Given the description of an element on the screen output the (x, y) to click on. 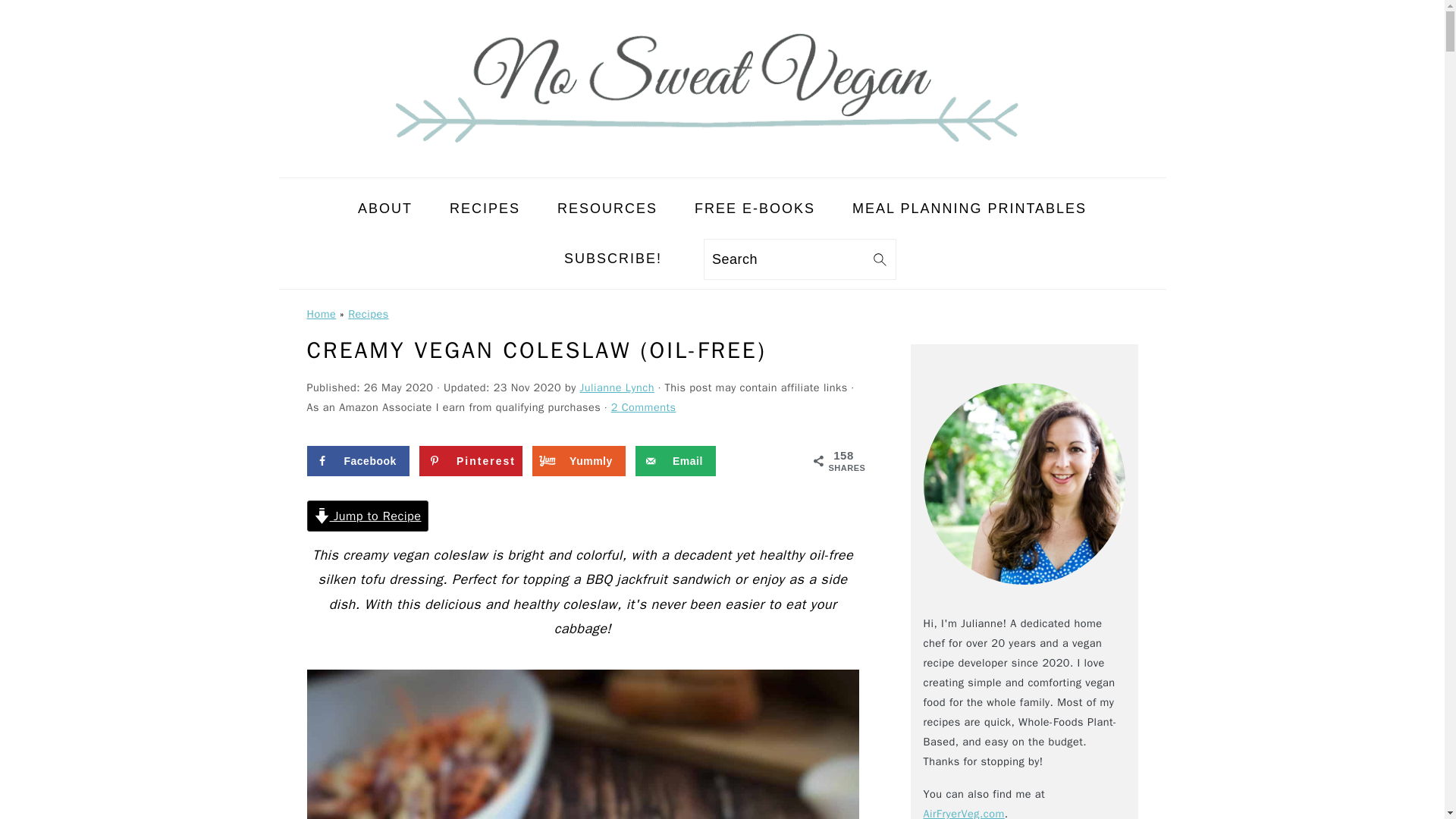
Share on Facebook (357, 460)
FREE E-BOOKS (754, 208)
No Sweat Vegan (722, 164)
MEAL PLANNING PRINTABLES (968, 208)
RESOURCES (606, 208)
SUBSCRIBE! (613, 258)
Send over email (675, 460)
ABOUT (385, 208)
RECIPES (484, 208)
Save to Pinterest (470, 460)
Share on Yummly (579, 460)
